Given the description of an element on the screen output the (x, y) to click on. 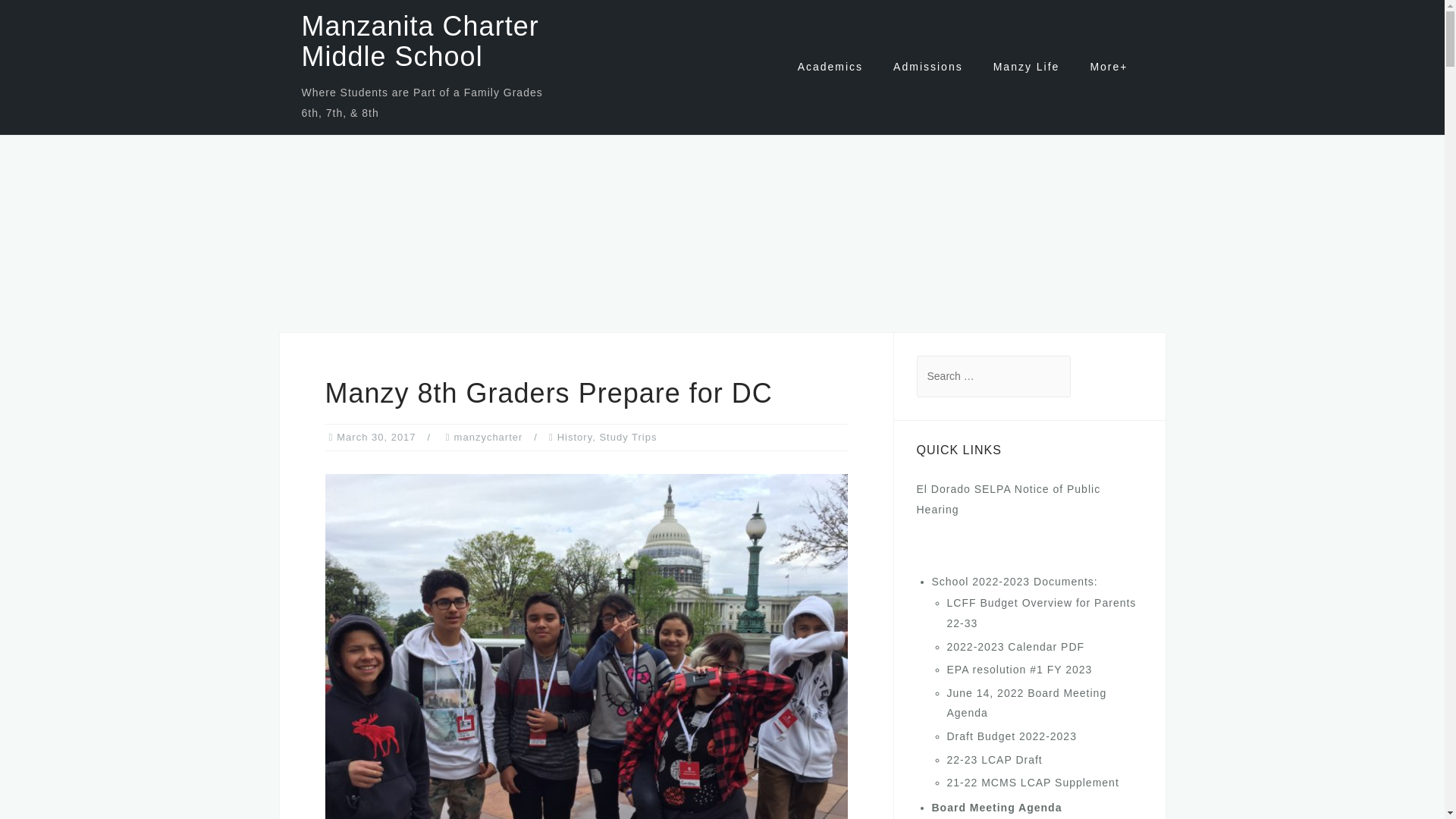
2022-2023 Calendar PDF (1015, 646)
Study Trips (627, 437)
manzycharter (488, 437)
Draft Budget 2022-2023 (1010, 736)
History (574, 437)
Manzanita Charter Middle School (419, 41)
LCFF Budget Overview for Parents 22-33 (1040, 613)
Manzy 8th Graders Prepare for DC (585, 668)
Academics (830, 66)
El Dorado SELPA Notice of Public Hearing (1007, 499)
March 30, 2017 (375, 437)
Search (54, 20)
Board Meeting Agenda (996, 807)
22-23 LCAP Draft (994, 759)
21-22 MCMS LCAP Supplement (1032, 782)
